Given the description of an element on the screen output the (x, y) to click on. 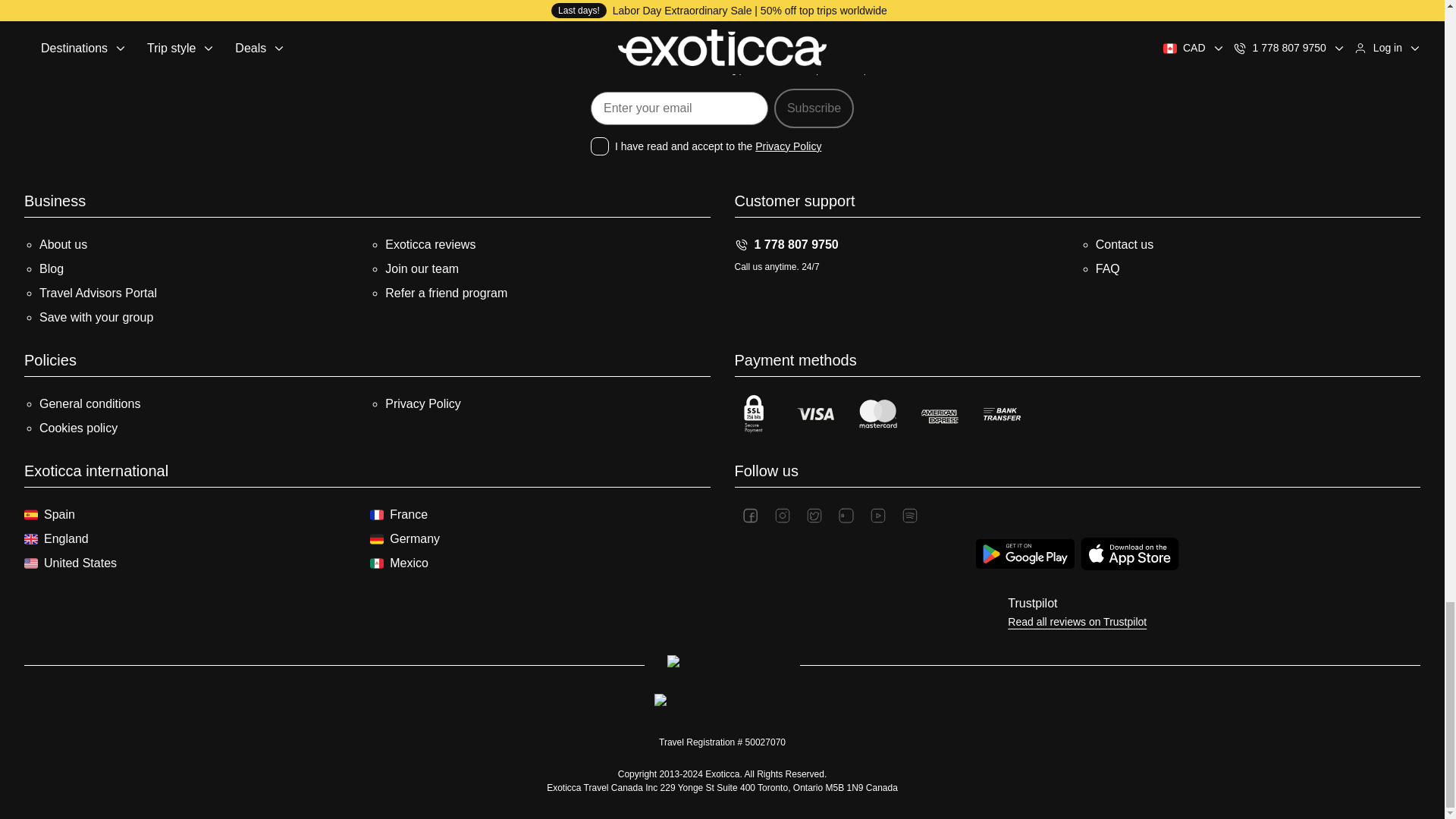
check-icon (574, 69)
check-icon (794, 69)
phone-call-icon (740, 244)
check-icon (693, 69)
ssl-en-white-icon (752, 413)
